Given the description of an element on the screen output the (x, y) to click on. 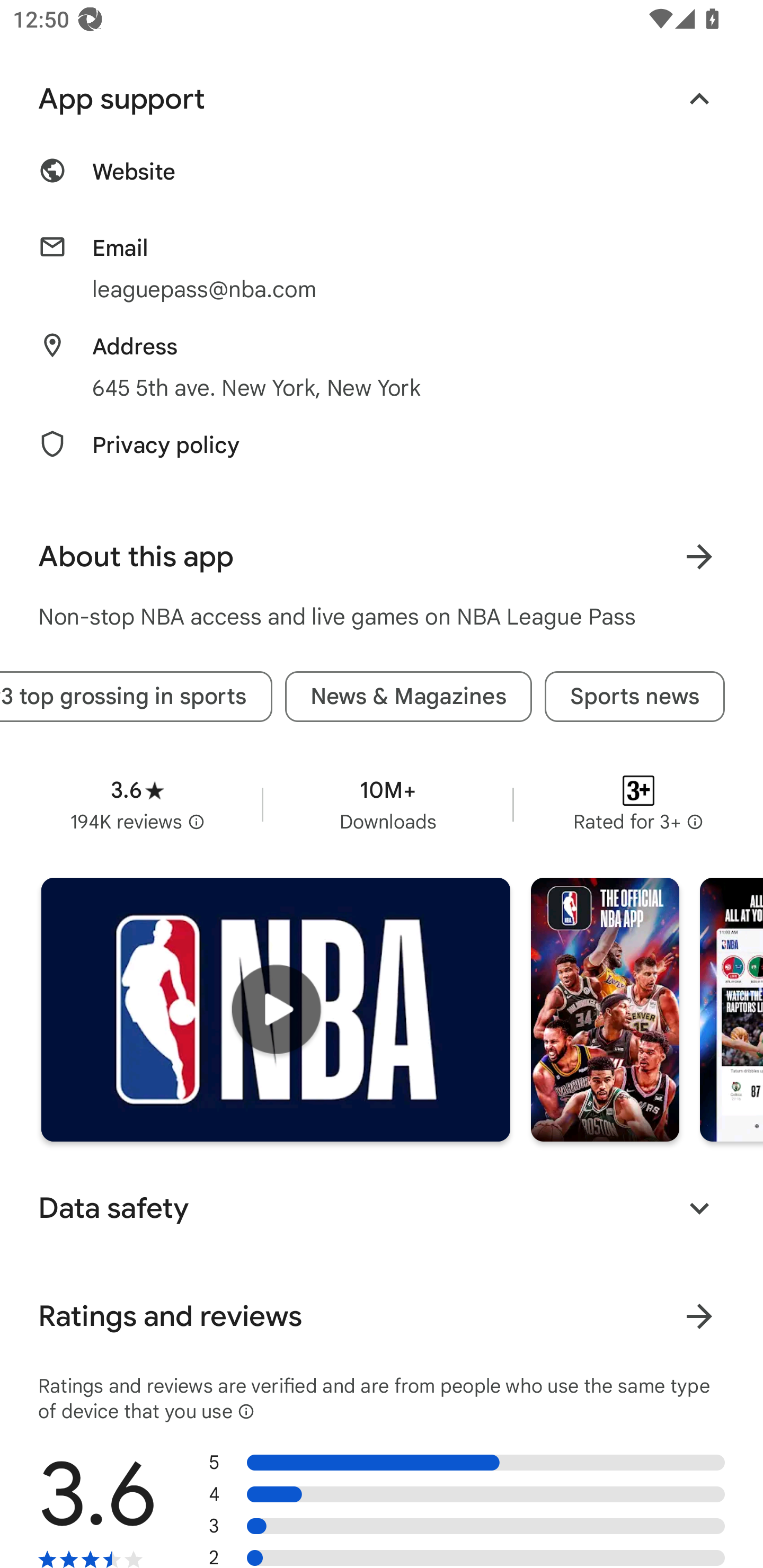
App support Collapse (381, 99)
Collapse (699, 99)
Website (381, 181)
Email leaguepass@nba.com (381, 268)
Address 645 5th ave. New York, New York (381, 367)
Privacy policy (381, 455)
About this app Learn more About this app (381, 556)
Learn more About this app (699, 556)
#3 top grossing in sports tag (136, 696)
News & Magazines tag (408, 696)
Sports news tag (634, 696)
Average rating 3.6 stars in 194 thousand reviews (137, 805)
Content rating Rated for 3+ (638, 805)
Play trailer for "NBA: Live Games & Scores" (275, 1009)
Screenshot "1" of "7" (605, 1009)
Data safety Expand (381, 1207)
Expand (699, 1207)
Ratings and reviews View all ratings and reviews (381, 1316)
View all ratings and reviews (699, 1315)
